Given the description of an element on the screen output the (x, y) to click on. 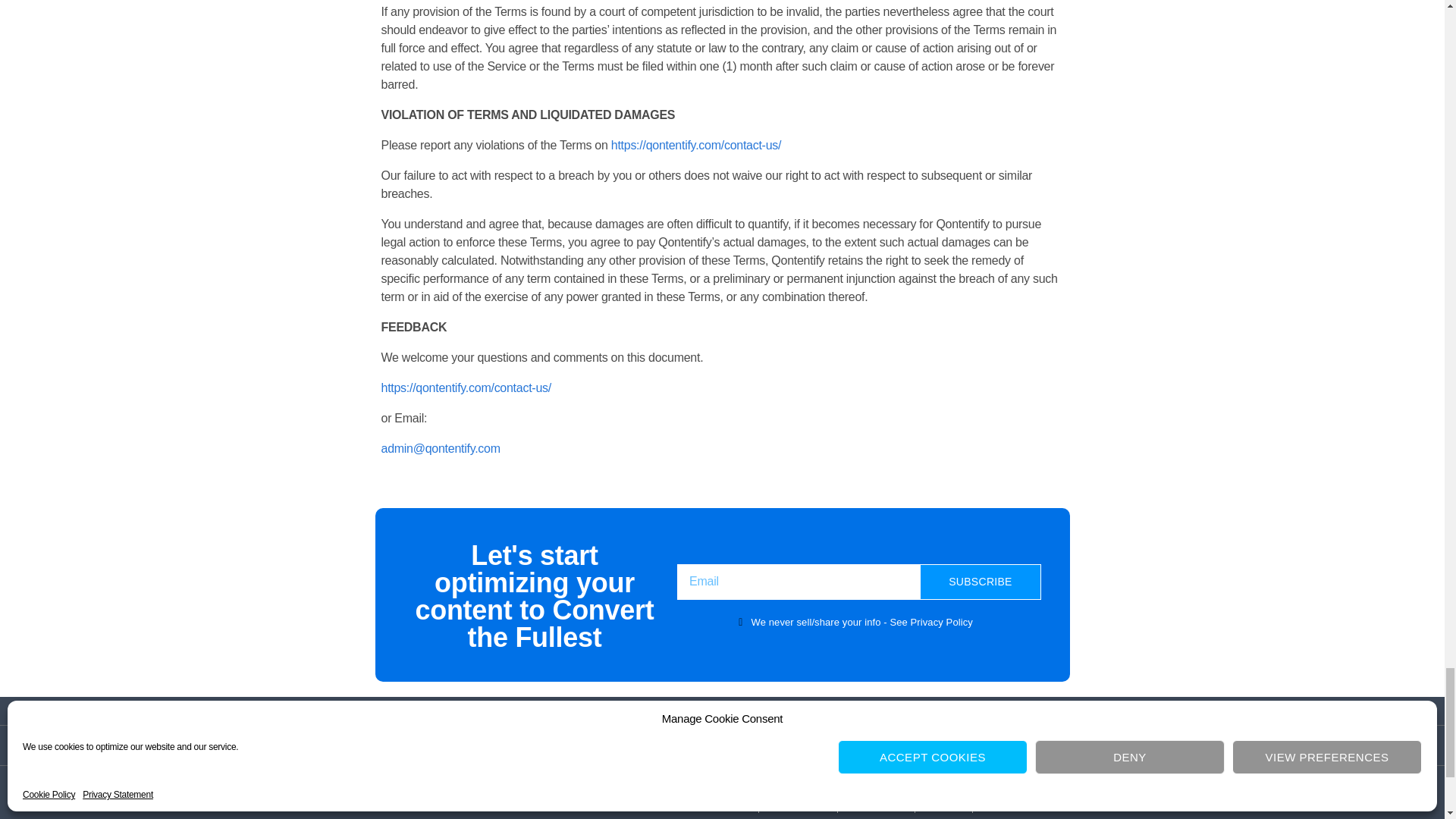
Home (725, 804)
SUBSCRIBE (980, 581)
About us (797, 804)
Blog (943, 804)
HEO (1002, 804)
Contact us (721, 745)
Services (875, 804)
